Given the description of an element on the screen output the (x, y) to click on. 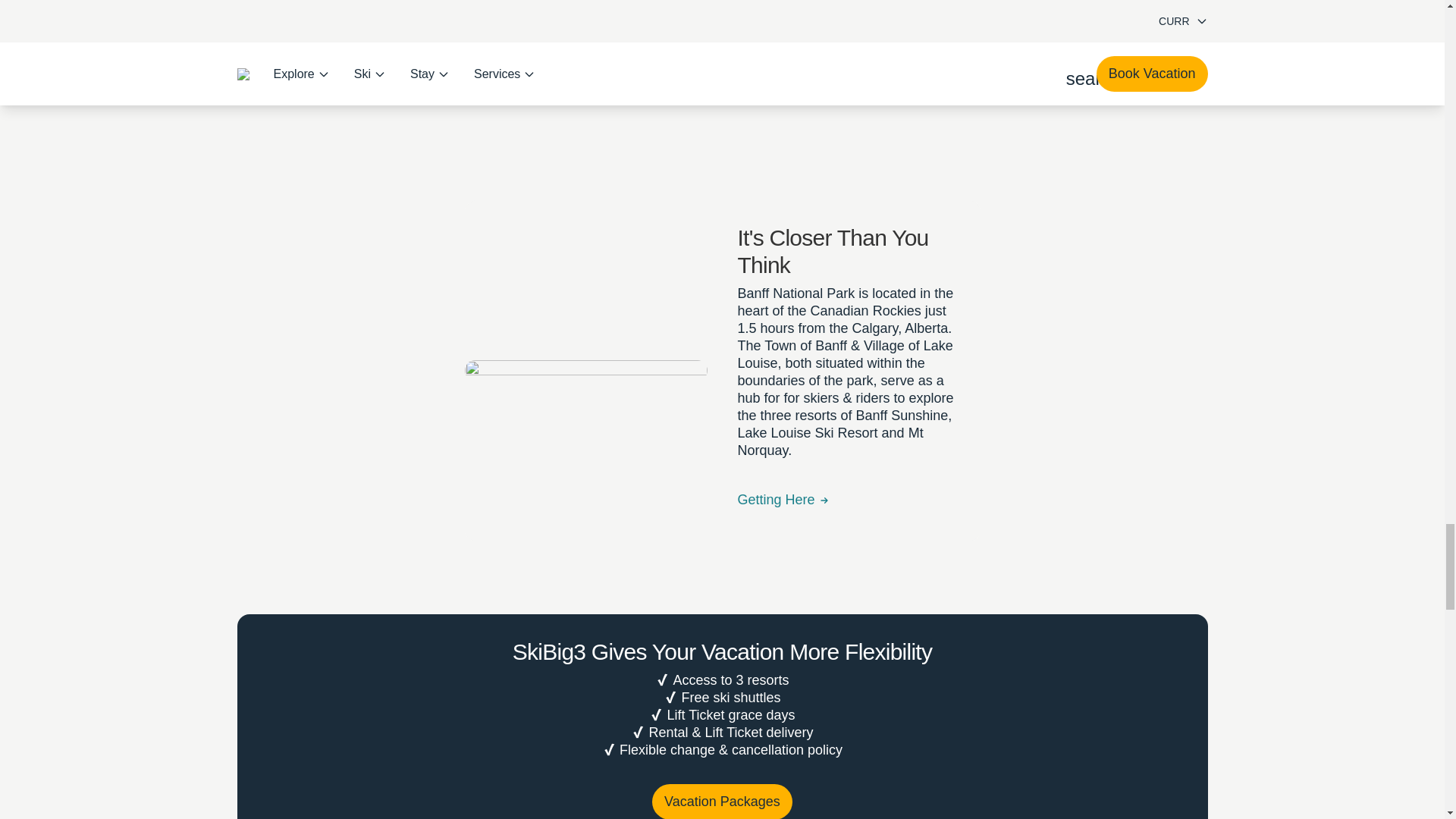
Getting Here (782, 500)
Vacation Packages (722, 801)
Getting Here (782, 500)
Vacation Packages (722, 801)
